Given the description of an element on the screen output the (x, y) to click on. 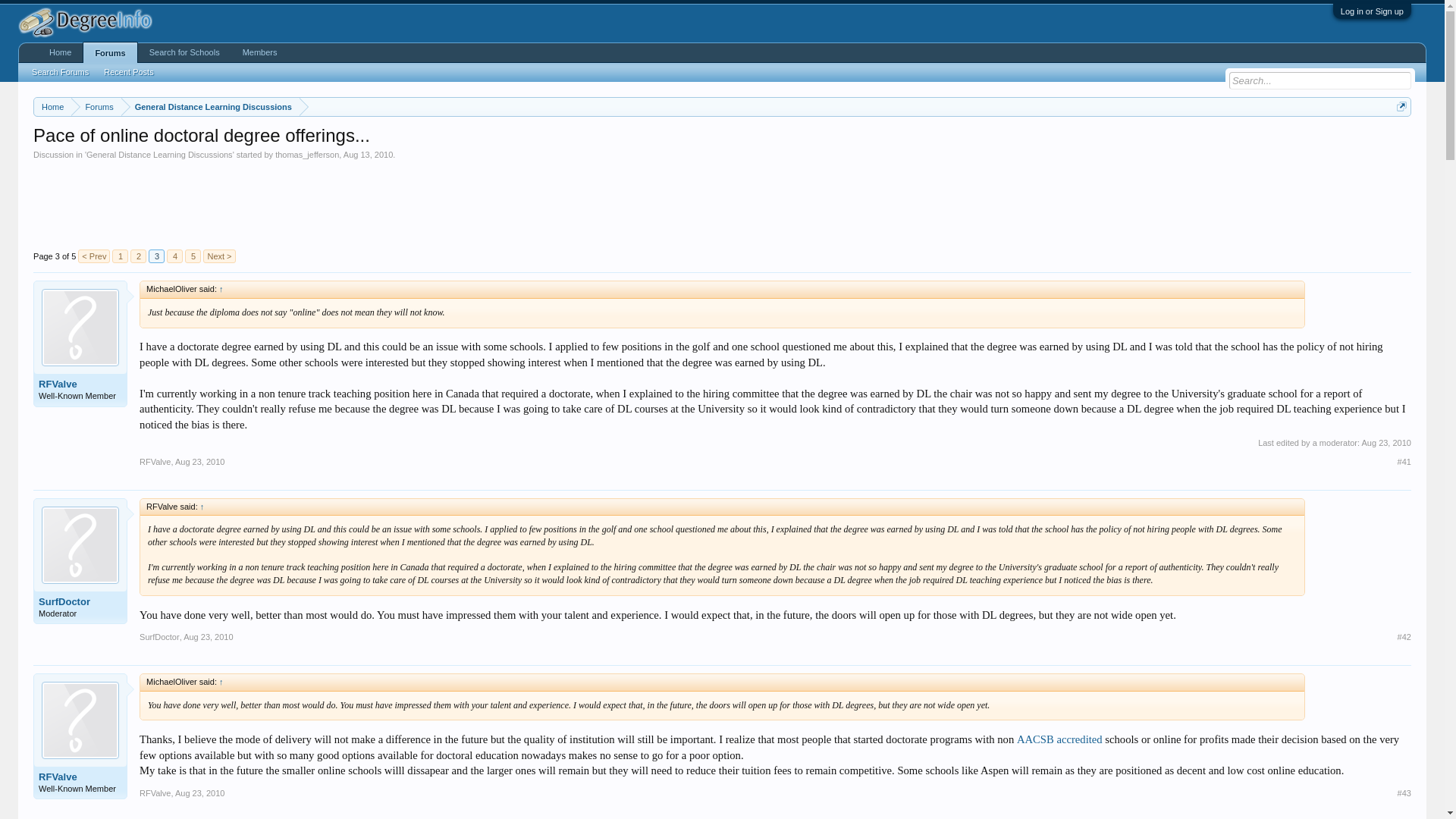
1 (120, 255)
SurfDoctor (80, 602)
Permalink (207, 636)
General Distance Learning Discussions (158, 153)
Aug 23, 2010 (207, 636)
4 (175, 255)
Open quick navigation (1401, 106)
RFValve (80, 384)
Aug 13, 2010 at 11:39 PM (368, 153)
General Distance Learning Discussions (209, 107)
Permalink (199, 792)
Home (52, 107)
Permalink (1403, 636)
RFValve (80, 776)
2 (139, 255)
